Given the description of an element on the screen output the (x, y) to click on. 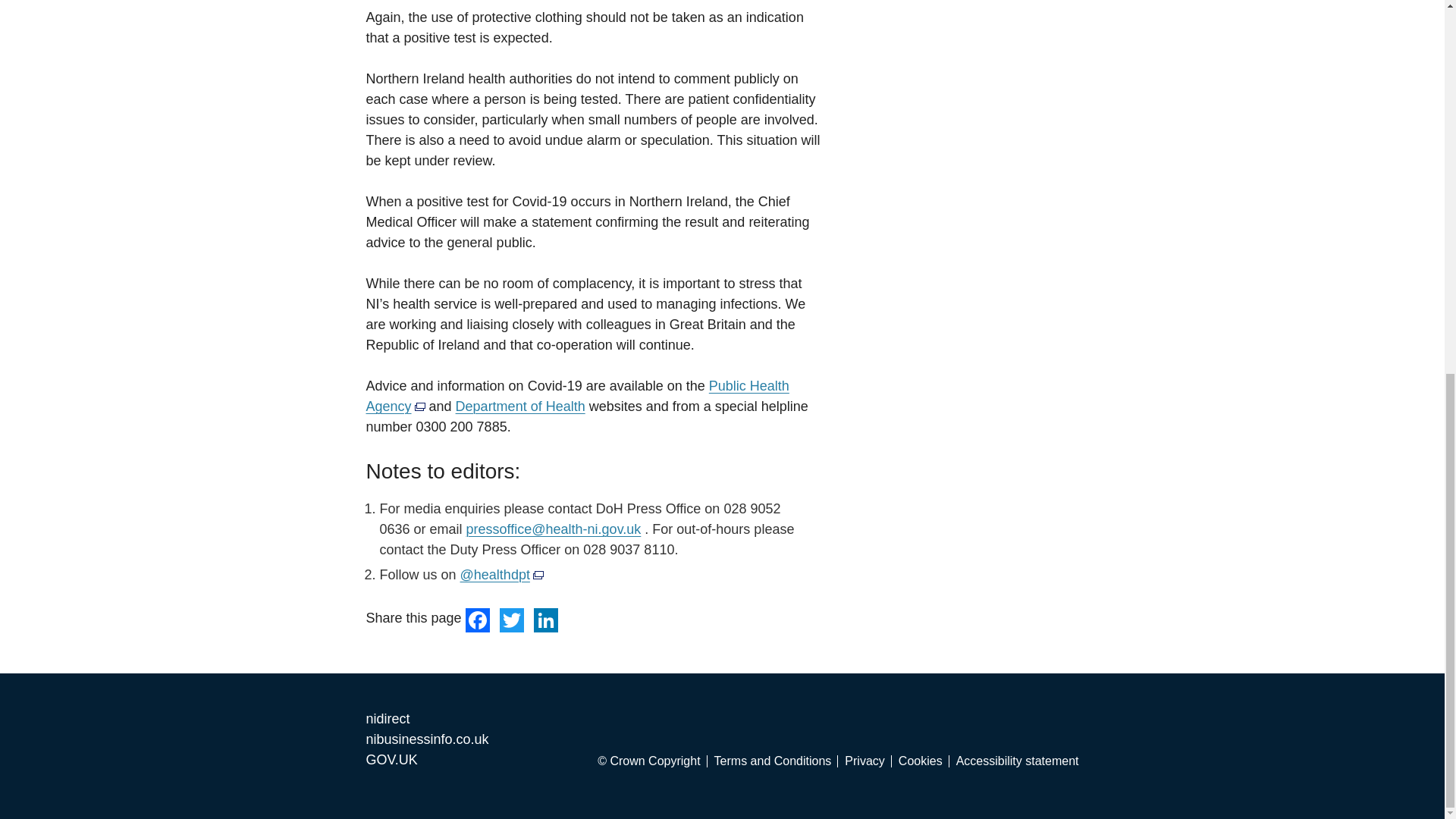
LinkedIn (545, 619)
Terms and Conditions (776, 761)
Department of Health (520, 406)
nidirect (387, 718)
Accessibility statement (1017, 761)
GOV.UK (390, 759)
Facebook (479, 619)
Privacy (867, 761)
nibusinessinfo.co.uk (426, 739)
Cookies (923, 761)
Twitter (511, 619)
